Given the description of an element on the screen output the (x, y) to click on. 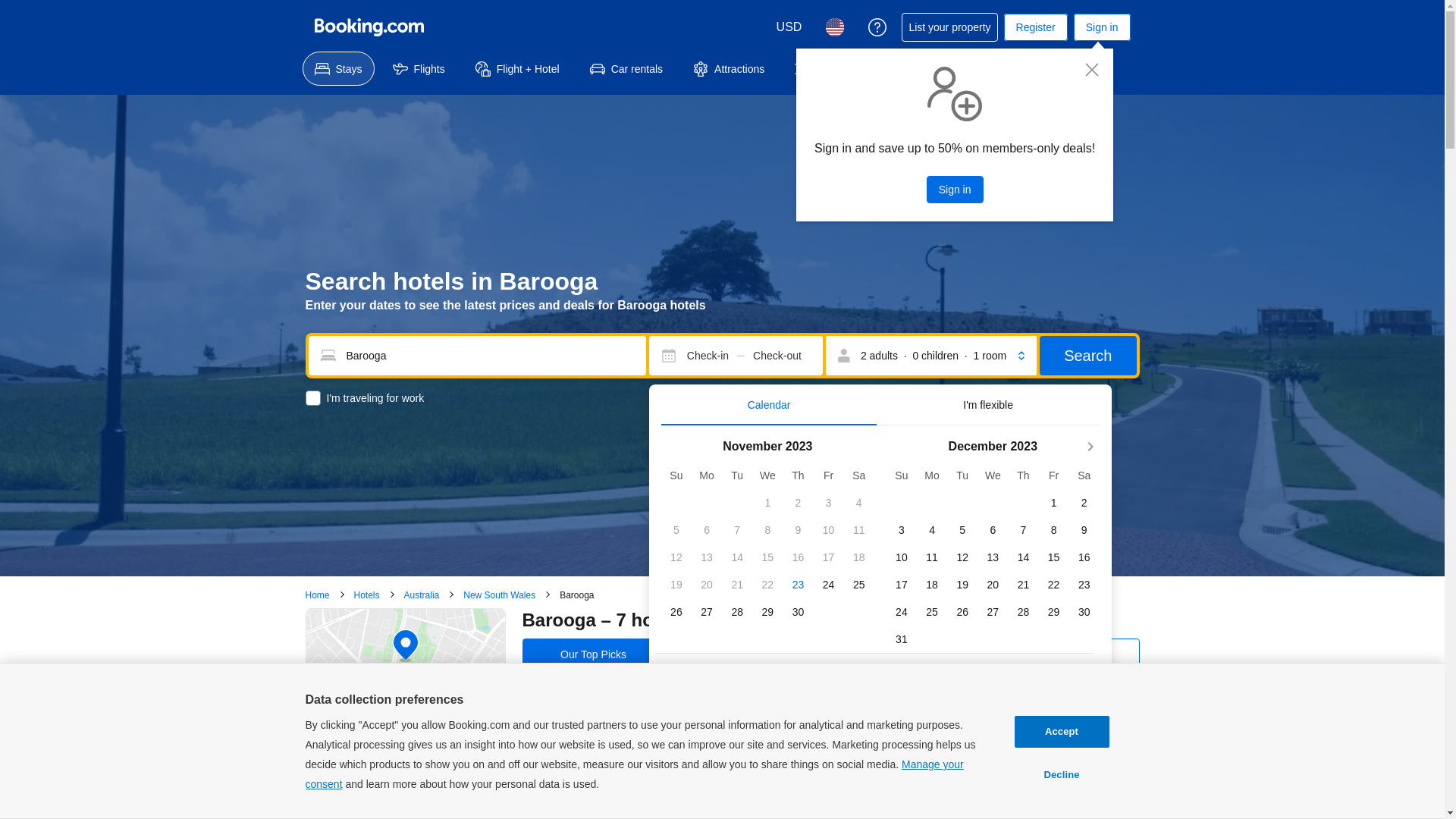
Airport taxis Element type: text (833, 68)
Show hotels on map Element type: text (404, 664)
Sign in Element type: text (954, 189)
Australia Element type: text (421, 595)
Hotels Element type: text (366, 595)
Manage your consent Element type: text (633, 774)
Top Reviewed Element type: text (1067, 654)
Car rentals Element type: text (625, 68)
Accept Element type: text (1061, 731)
Calendar Element type: text (769, 404)
Register Element type: text (1035, 26)
Star rating and price Element type: text (910, 654)
List your property Element type: text (949, 26)
Cobram Barooga Golf Resort
Barooga Element type: text (864, 768)
Home Element type: text (316, 595)
Attractions Element type: text (728, 68)
Choose your language. Your current language is English (US) Element type: text (834, 27)
Barooga Element type: text (576, 594)
Stays Element type: text (337, 68)
Flights Element type: text (418, 68)
Search Element type: text (1087, 355)
Sign in Element type: text (1101, 26)
New South Wales Element type: text (499, 595)
Flight + Hotel Element type: text (517, 68)
Get help with your reservation Element type: text (877, 27)
Choose dates Element type: text (861, 704)
Decline Element type: text (1061, 774)
Lowest Price First Element type: text (745, 654)
Show hotels on map Element type: text (405, 682)
I'm flexible Element type: text (987, 404)
Our Top Picks Element type: text (594, 654)
